Given the description of an element on the screen output the (x, y) to click on. 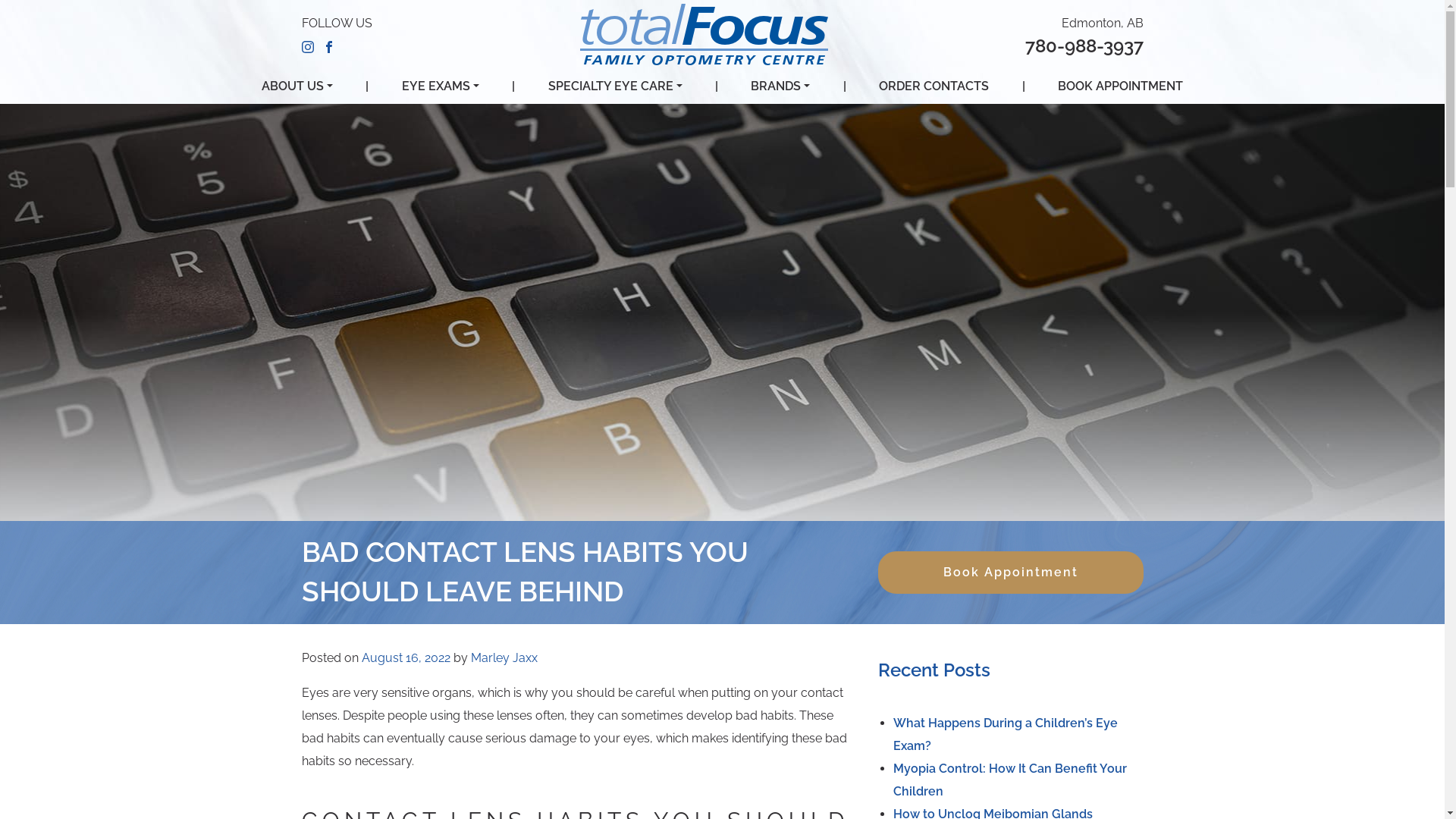
Myopia Control: How It Can Benefit Your Children Element type: text (1009, 779)
Instagram Element type: hover (307, 45)
780-988-3937 Element type: text (1084, 45)
Book Appointment Element type: text (1010, 572)
ABOUT US Element type: text (296, 86)
Marley Jaxx Element type: text (503, 657)
August 16, 2022 Element type: text (404, 657)
Facebook Element type: hover (329, 45)
ORDER CONTACTS Element type: text (933, 86)
BOOK APPOINTMENT Element type: text (1120, 86)
EYE EXAMS Element type: text (440, 86)
SPECIALTY EYE CARE Element type: text (615, 86)
BRANDS Element type: text (779, 86)
